Given the description of an element on the screen output the (x, y) to click on. 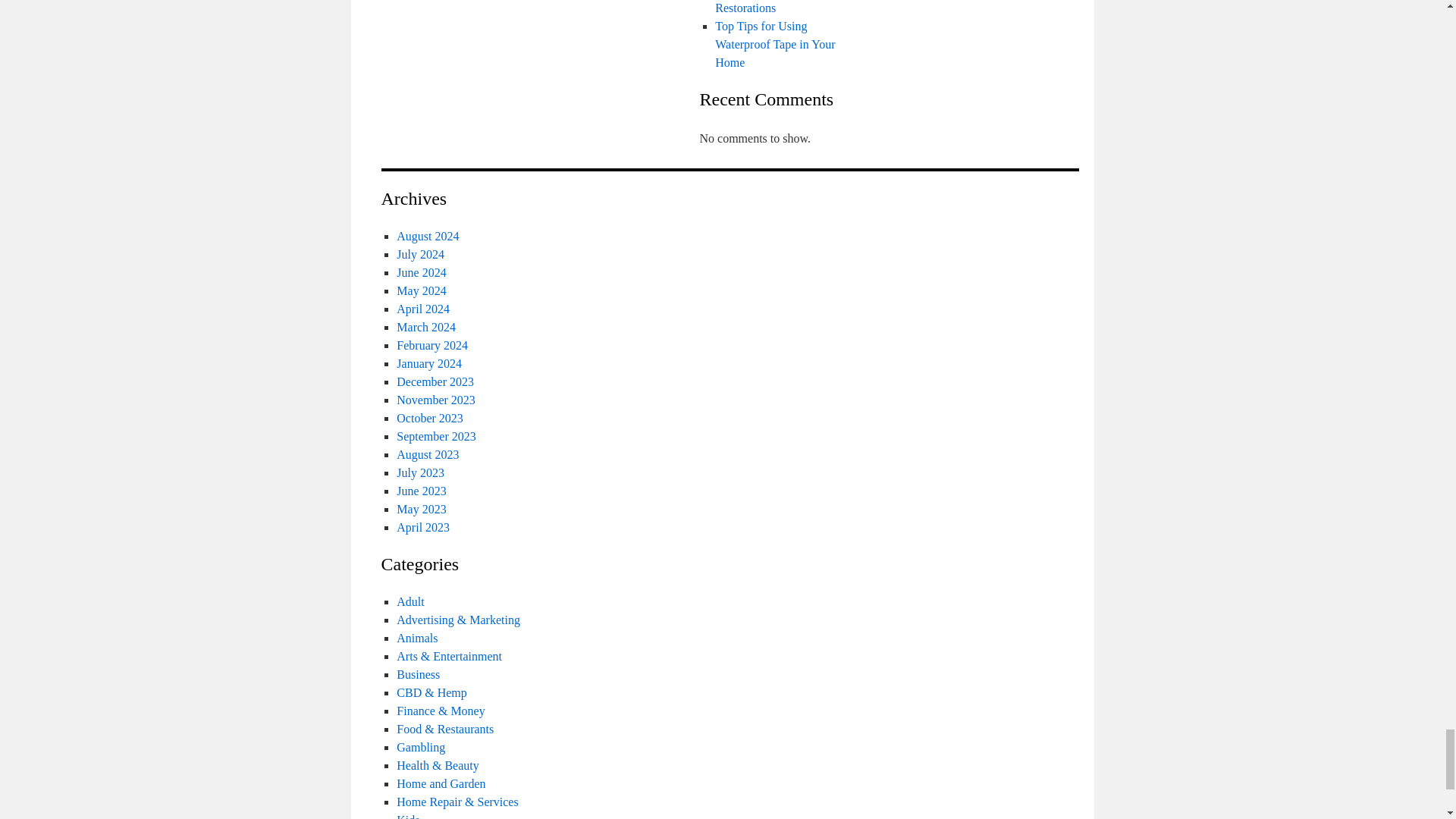
March 2024 (425, 327)
December 2023 (435, 381)
April 2023 (422, 526)
Top Tips for Using Waterproof Tape in Your Home (774, 43)
Adult (409, 601)
July 2024 (420, 254)
October 2023 (429, 418)
June 2024 (420, 272)
May 2023 (420, 508)
